Given the description of an element on the screen output the (x, y) to click on. 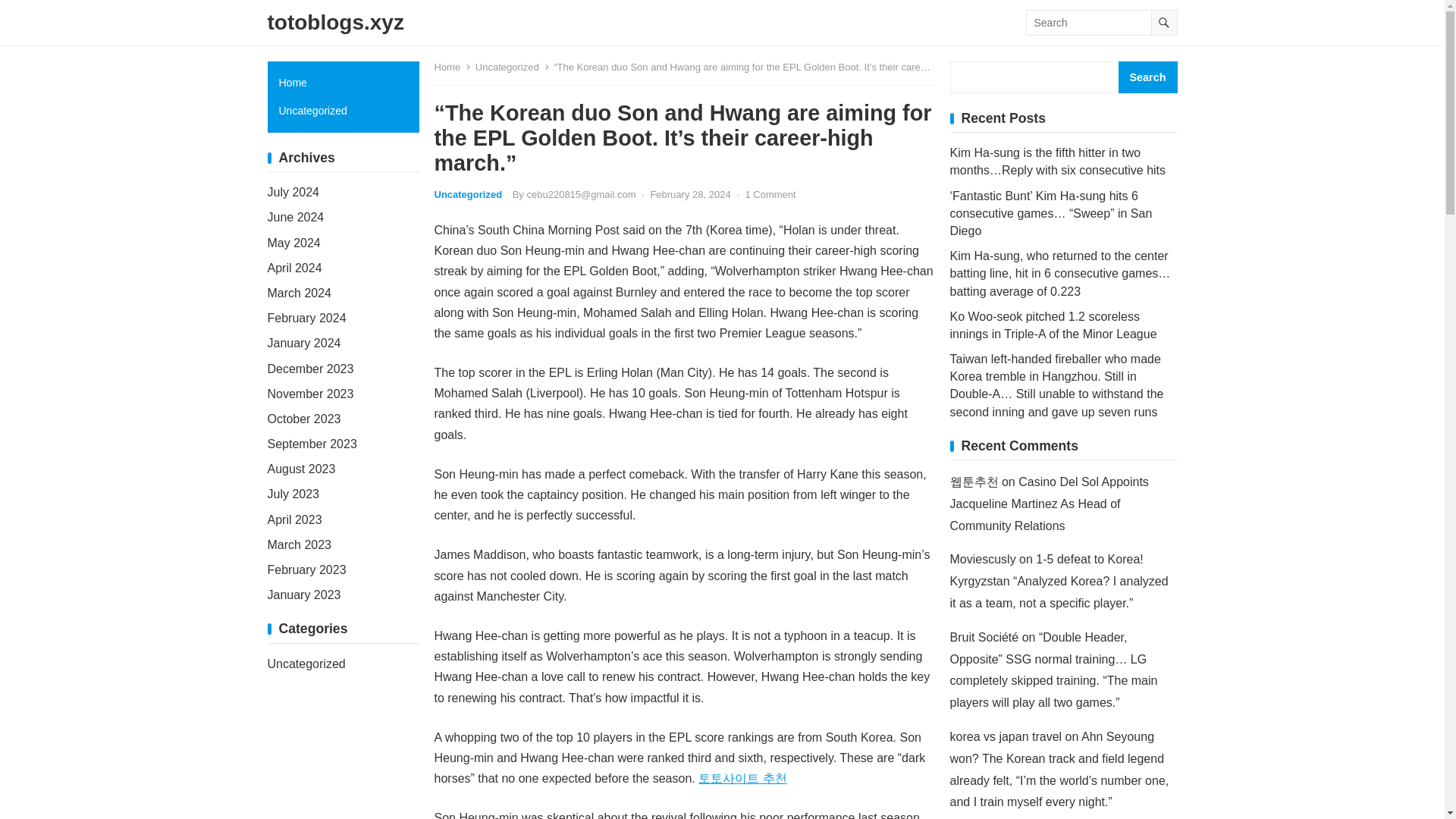
Uncategorized (467, 194)
Home (451, 66)
totoblogs.xyz (334, 22)
1 Comment (769, 194)
Uncategorized (513, 66)
